Given the description of an element on the screen output the (x, y) to click on. 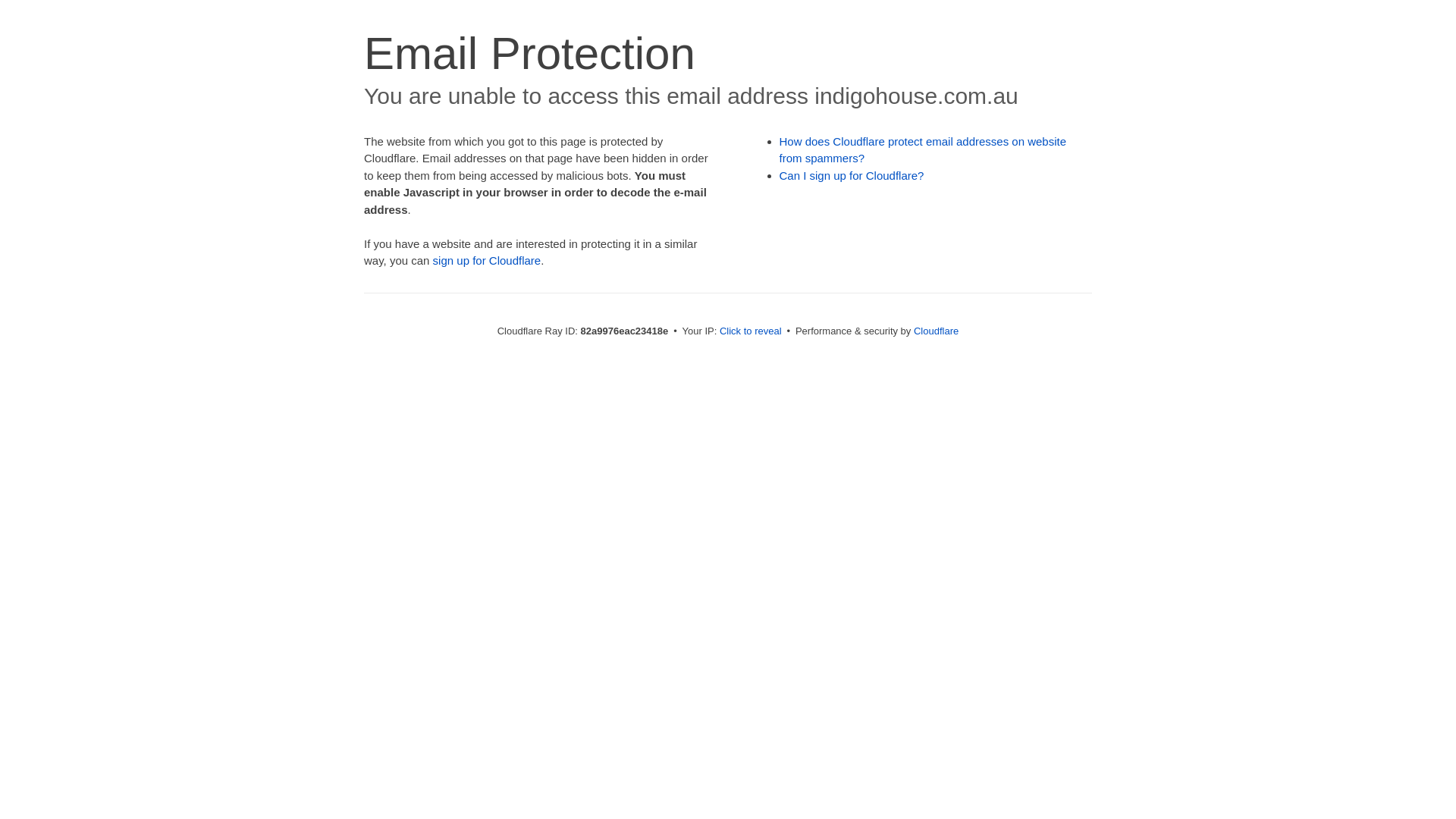
Cloudflare Element type: text (935, 330)
sign up for Cloudflare Element type: text (487, 260)
Can I sign up for Cloudflare? Element type: text (851, 175)
Click to reveal Element type: text (750, 330)
